Given the description of an element on the screen output the (x, y) to click on. 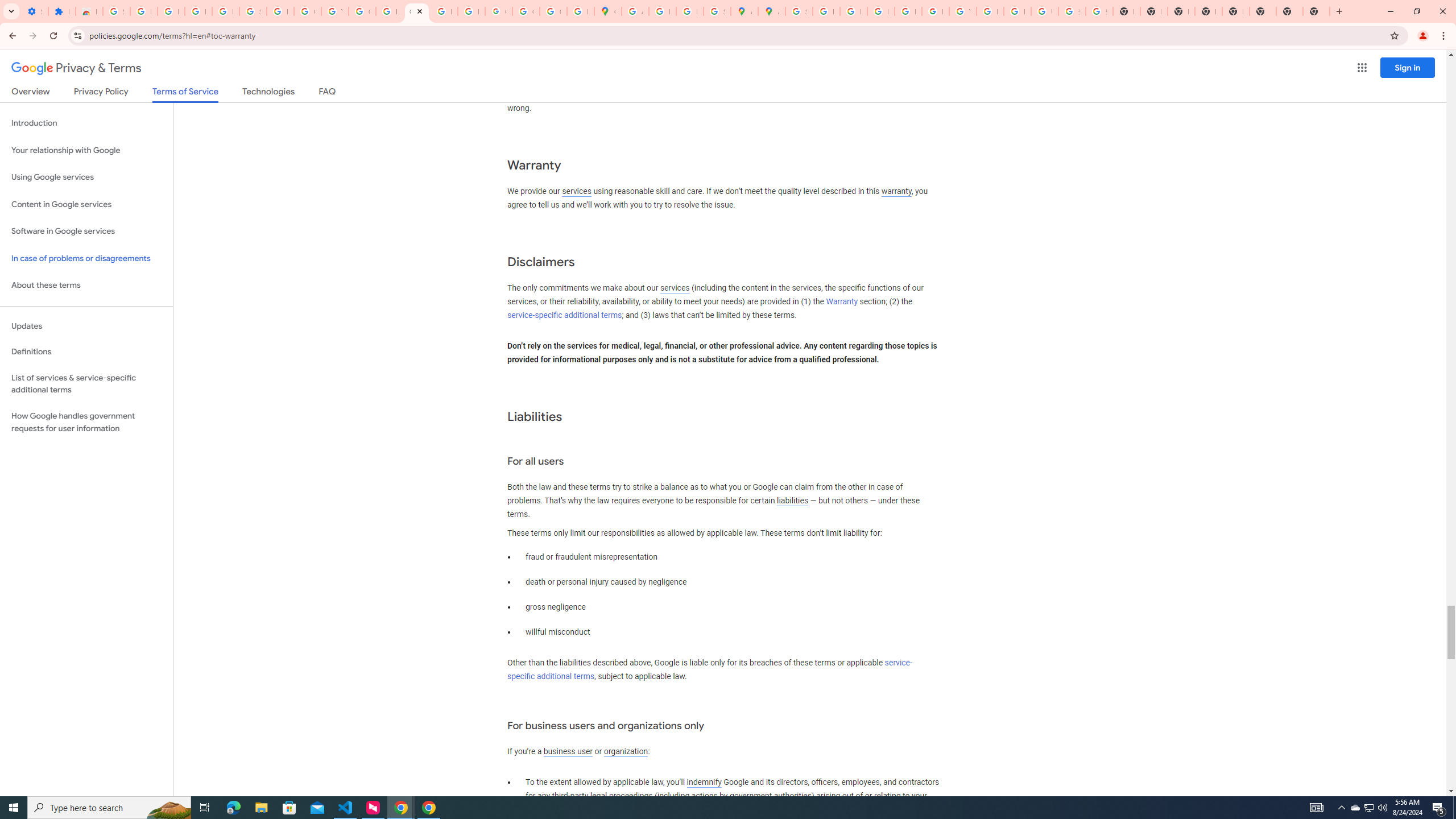
Extensions (61, 11)
List of services & service-specific additional terms (86, 383)
Privacy Help Center - Policies Help (880, 11)
New Tab (1236, 11)
About these terms (86, 284)
Reviews: Helix Fruit Jump Arcade Game (88, 11)
